Given the description of an element on the screen output the (x, y) to click on. 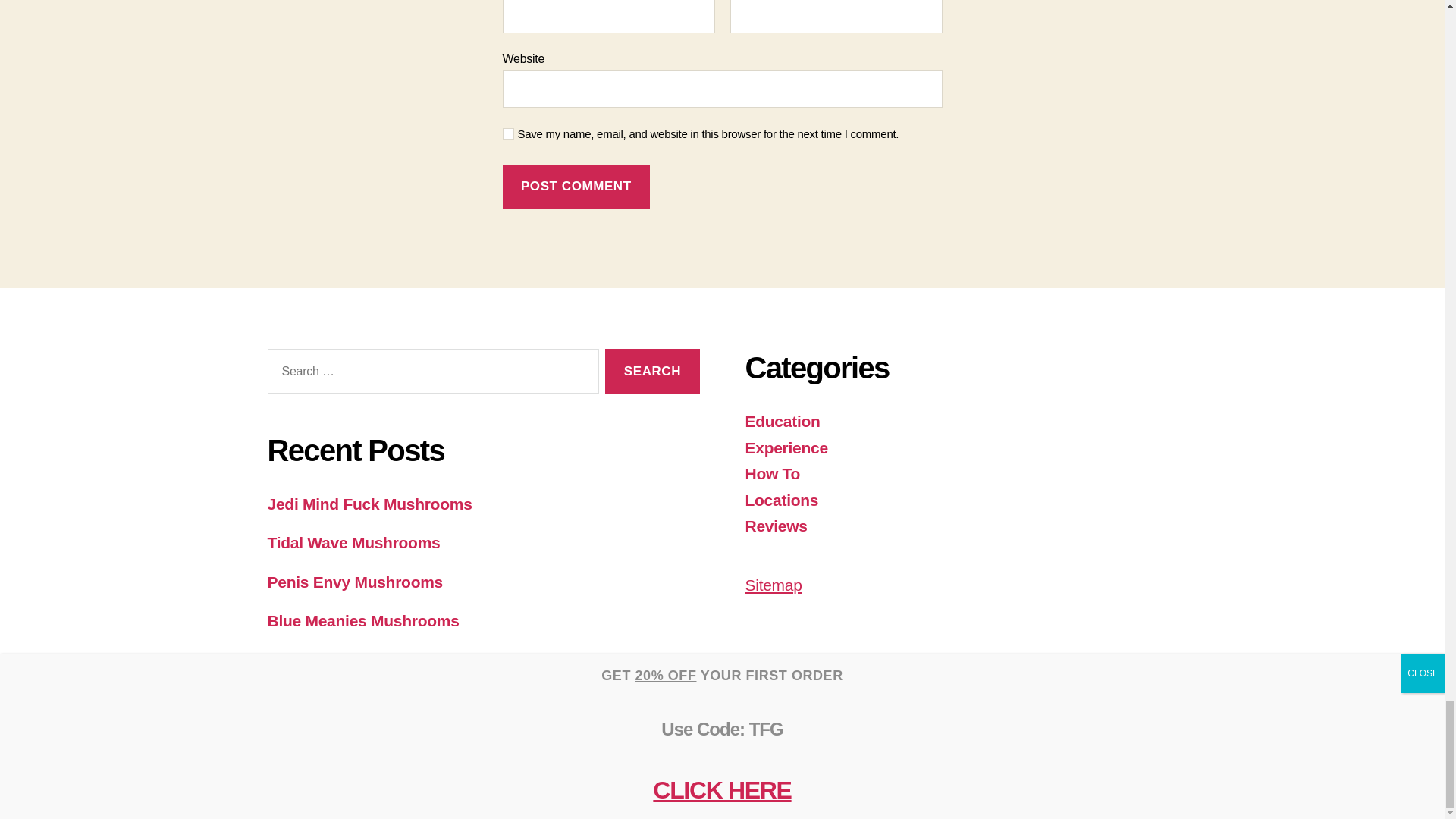
Experience (785, 447)
Post Comment (575, 186)
yes (507, 133)
Education (781, 420)
Tidal Wave Mushrooms (352, 542)
Search (651, 370)
Post Comment (575, 186)
Golden Teacher Mushrooms (371, 660)
Jedi Mind Fuck Mushrooms (368, 503)
Search (651, 370)
Search (651, 370)
Penis Envy Mushrooms (354, 581)
Blue Meanies Mushrooms (362, 620)
